Given the description of an element on the screen output the (x, y) to click on. 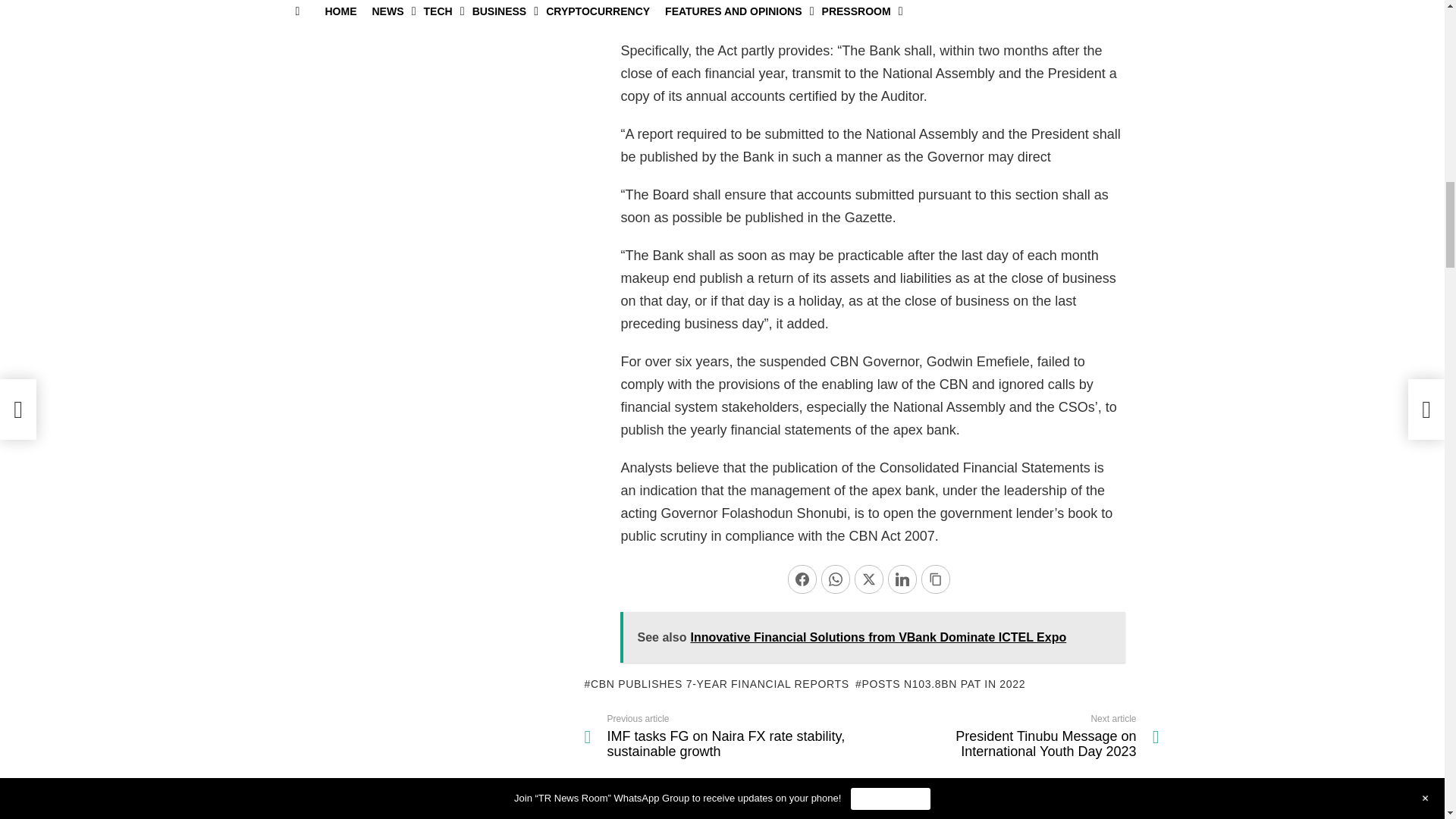
Share on Share on LinkedIn (902, 579)
Share on Share on Facebook (801, 579)
Share on Share on Twitter (868, 579)
Share on Copy Link (935, 579)
Share on Share on WhatsApp (835, 579)
